Given the description of an element on the screen output the (x, y) to click on. 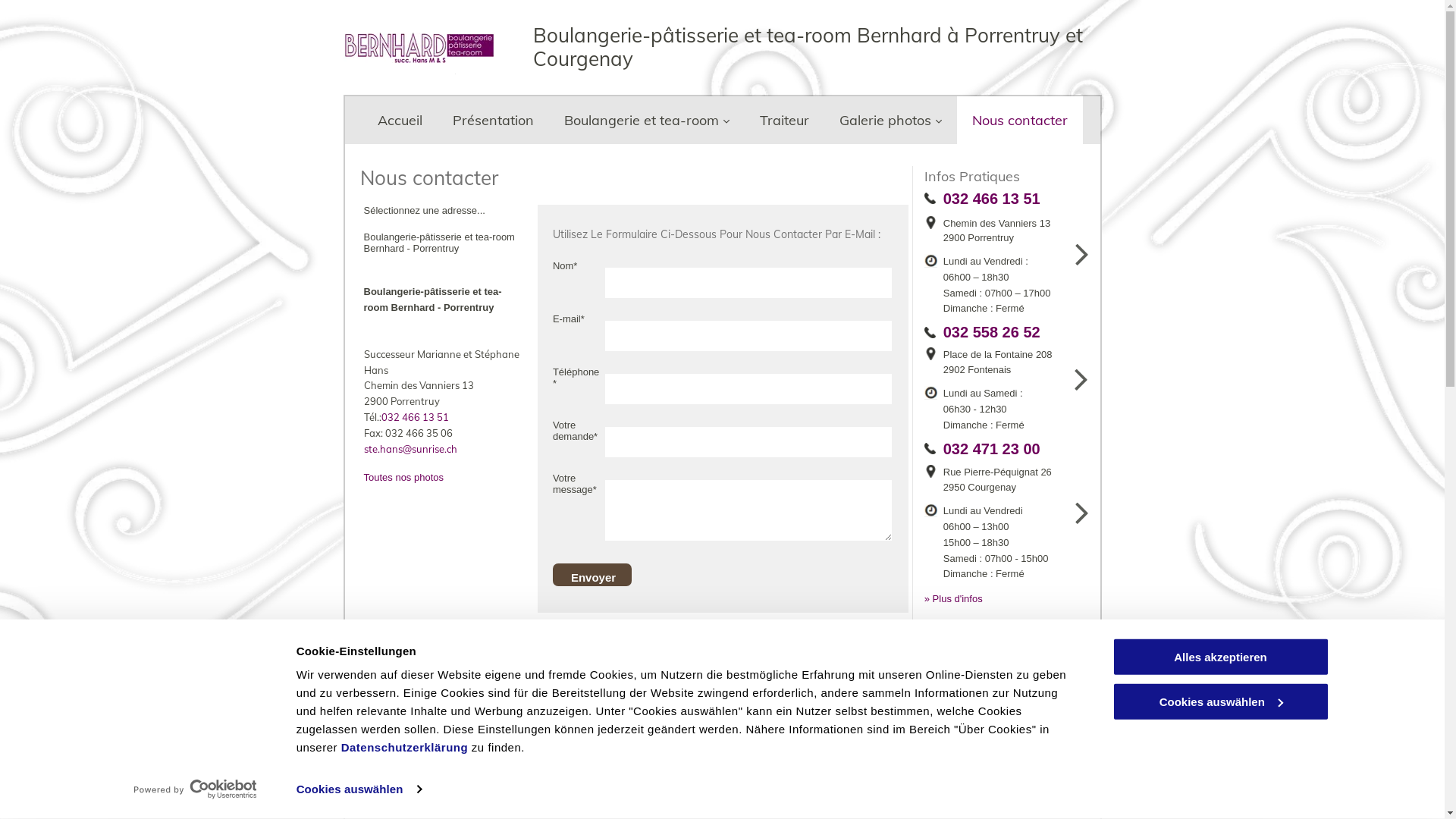
Galerie photos Element type: text (889, 120)
032 558 26 52 Element type: text (991, 331)
Alles akzeptieren Element type: text (1219, 656)
ste.hans@sunrise.ch Element type: text (410, 448)
Traiteur Element type: text (784, 120)
Envoyer Element type: text (593, 577)
032 466 13 51 Element type: text (414, 417)
Accueil Element type: text (399, 120)
032 471 23 00 Element type: text (991, 448)
Boulangerie et tea-room Element type: text (646, 120)
032 466 13 51 Element type: text (991, 198)
Toutes nos photos Element type: text (404, 477)
Nous contacter Element type: text (1019, 120)
